Given the description of an element on the screen output the (x, y) to click on. 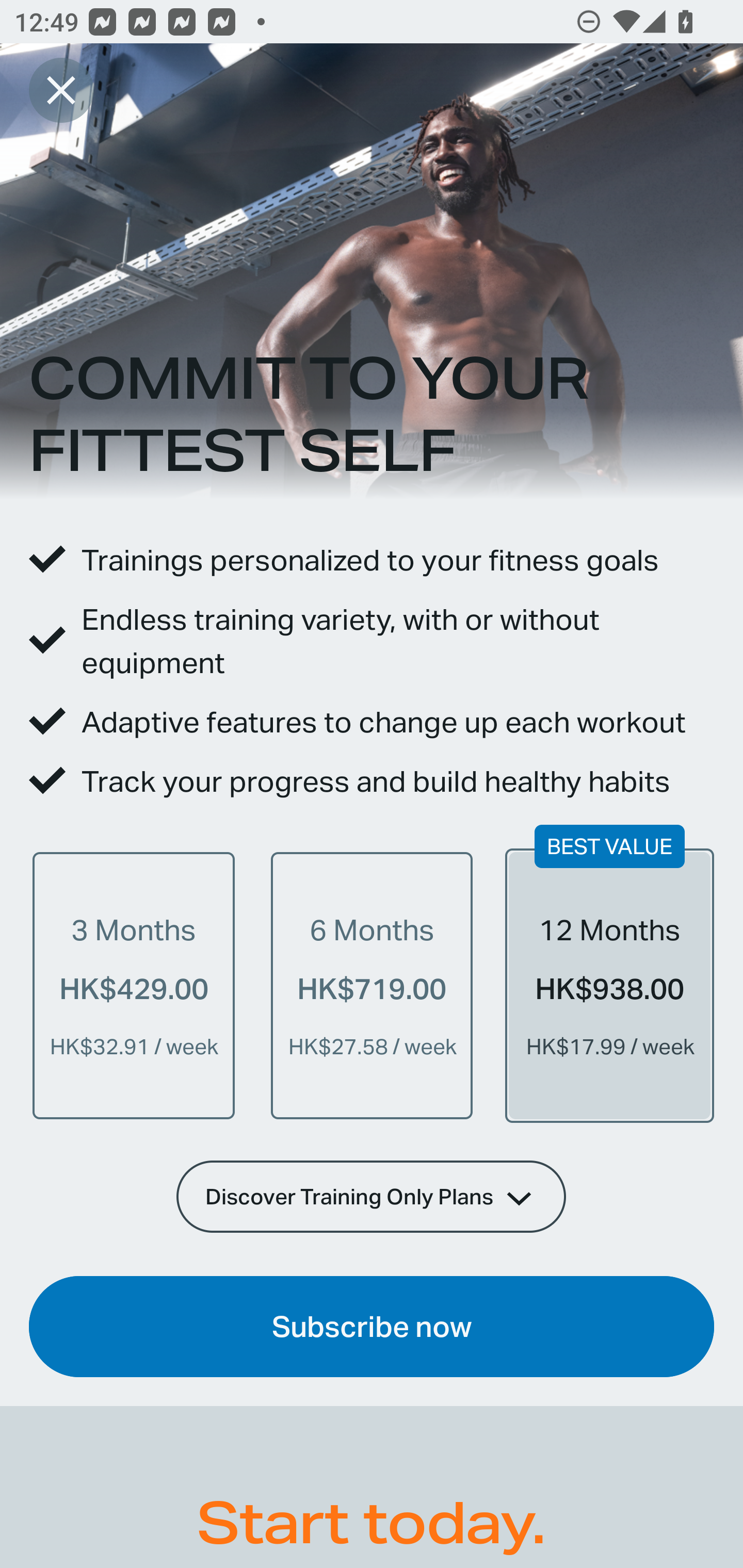
Close (60, 90)
3 Months HK$429.00 HK$32.91 / week (133, 985)
6 Months HK$719.00 HK$27.58 / week (371, 985)
12 Months HK$938.00 HK$17.99 / week (609, 985)
Discover Training Only Plans (371, 1196)
Subscribe now (371, 1326)
